Given the description of an element on the screen output the (x, y) to click on. 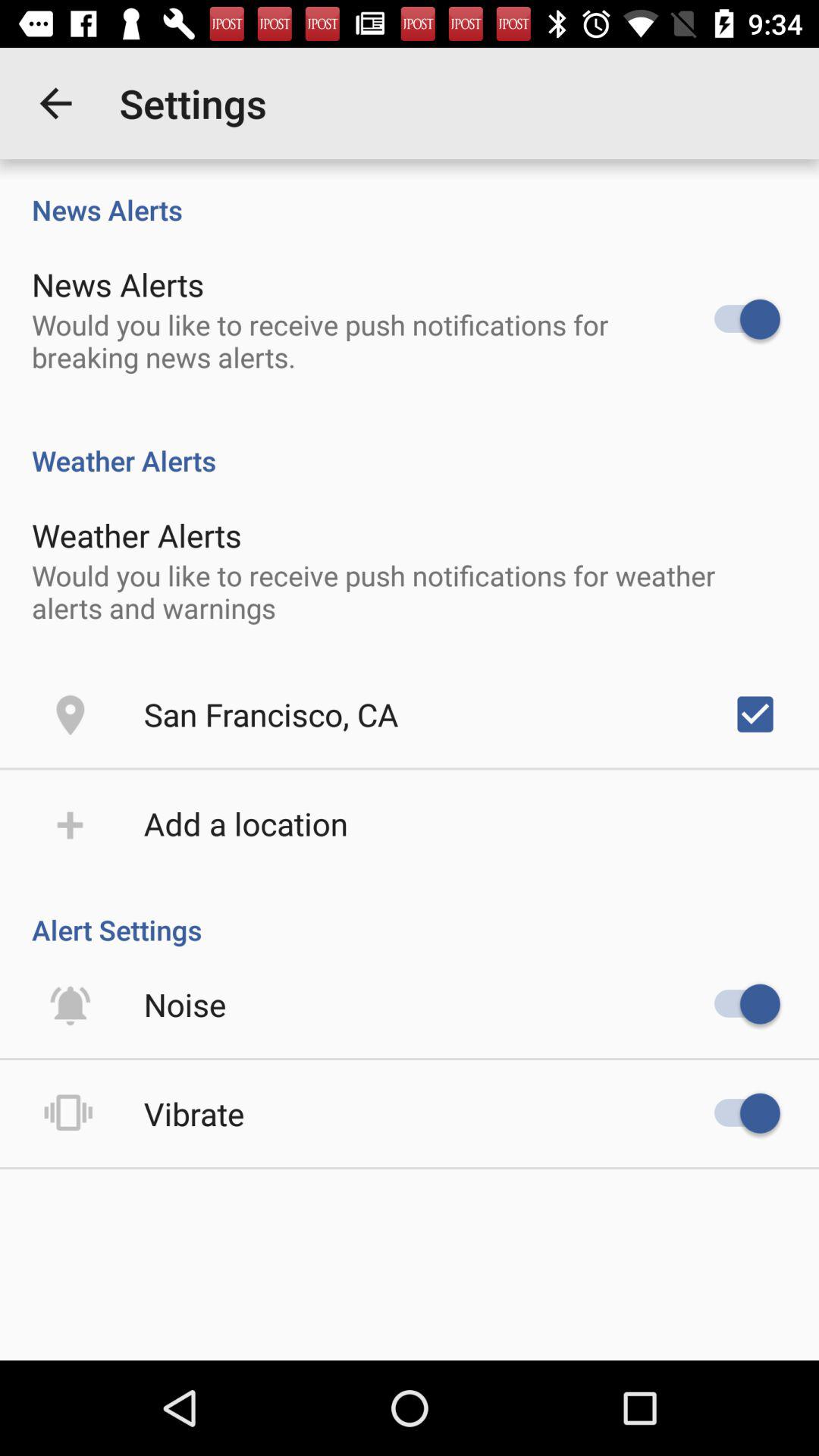
select item below alert settings (184, 1004)
